Given the description of an element on the screen output the (x, y) to click on. 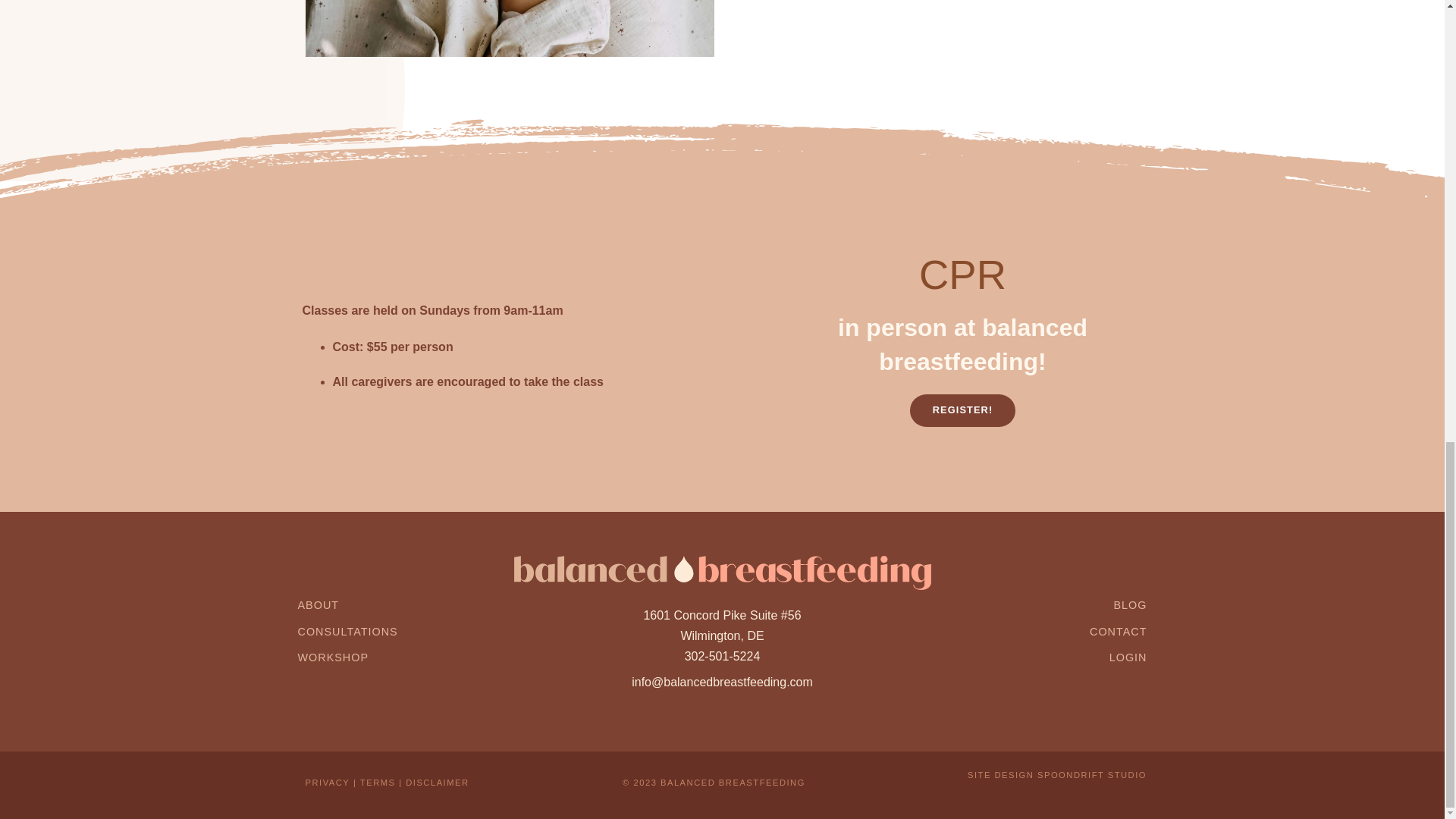
SPOONDRIFT STUDIO (1091, 774)
CONTACT (1118, 631)
WORKSHOP (332, 657)
CONSULTATIONS (347, 631)
TERMS (377, 782)
REGISTER! (963, 409)
LOGIN (1128, 657)
BLOG (1130, 604)
DISCLAIMER (437, 782)
302-501-5224 (722, 656)
